Given the description of an element on the screen output the (x, y) to click on. 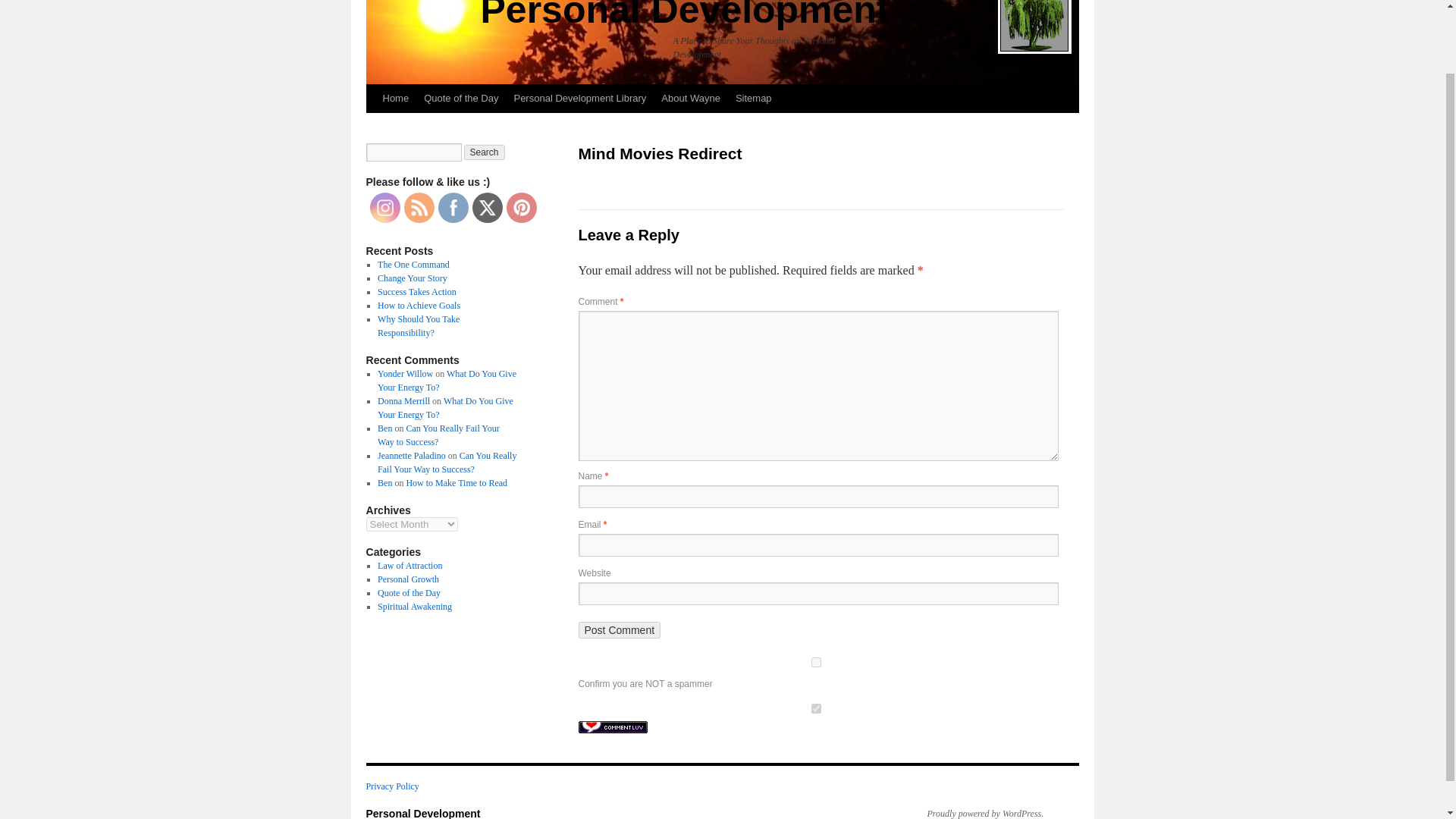
Personal Growth (408, 579)
on (815, 708)
Ben (384, 428)
What Do You Give Your Energy To? (446, 380)
Change Your Story (411, 277)
Ben (384, 482)
Can You Really Fail Your Way to Success? (438, 435)
Personal Development (684, 15)
Pinterest (520, 207)
Instagram (384, 207)
Personal Development Library (579, 98)
Facebook (452, 207)
Sitemap (753, 98)
RSS (419, 207)
Post Comment (619, 629)
